Given the description of an element on the screen output the (x, y) to click on. 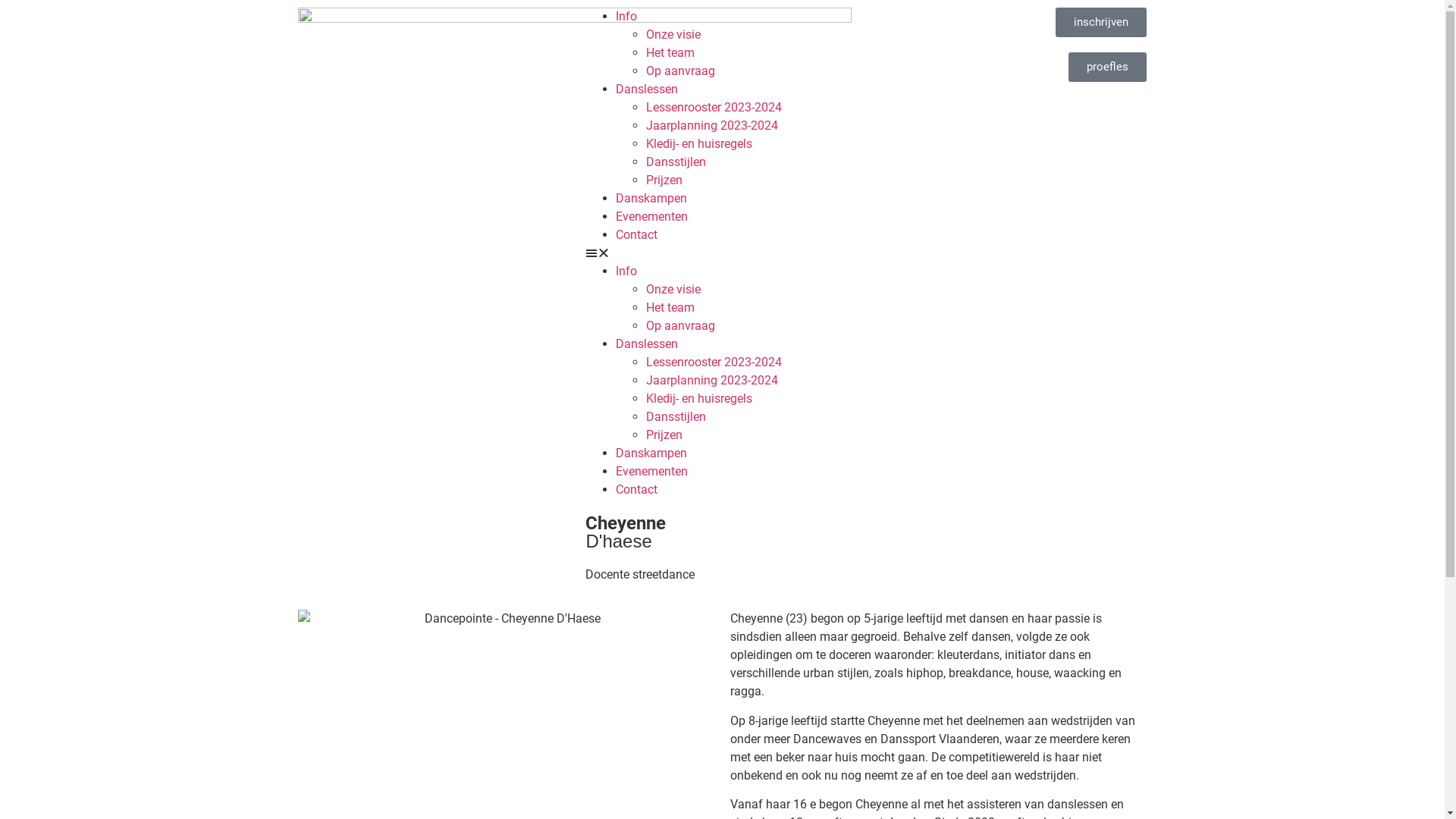
Onze visie Element type: text (673, 289)
Prijzen Element type: text (664, 179)
Op aanvraag Element type: text (680, 325)
Jaarplanning 2023-2024 Element type: text (712, 380)
Onze visie Element type: text (673, 34)
Lessenrooster 2023-2024 Element type: text (713, 361)
Lessenrooster 2023-2024 Element type: text (713, 107)
Dansstijlen Element type: text (676, 161)
Prijzen Element type: text (664, 434)
Het team Element type: text (670, 52)
Danskampen Element type: text (651, 452)
Danskampen Element type: text (651, 198)
Op aanvraag Element type: text (680, 70)
Evenementen Element type: text (651, 471)
Contact Element type: text (636, 234)
Danslessen Element type: text (646, 88)
Info Element type: text (626, 16)
Kledij- en huisregels Element type: text (699, 143)
Kledij- en huisregels Element type: text (699, 398)
Contact Element type: text (636, 489)
inschrijven Element type: text (1100, 22)
Info Element type: text (626, 270)
Het team Element type: text (670, 307)
Jaarplanning 2023-2024 Element type: text (712, 125)
Evenementen Element type: text (651, 216)
Danslessen Element type: text (646, 343)
proefles Element type: text (1107, 66)
Dansstijlen Element type: text (676, 416)
